Given the description of an element on the screen output the (x, y) to click on. 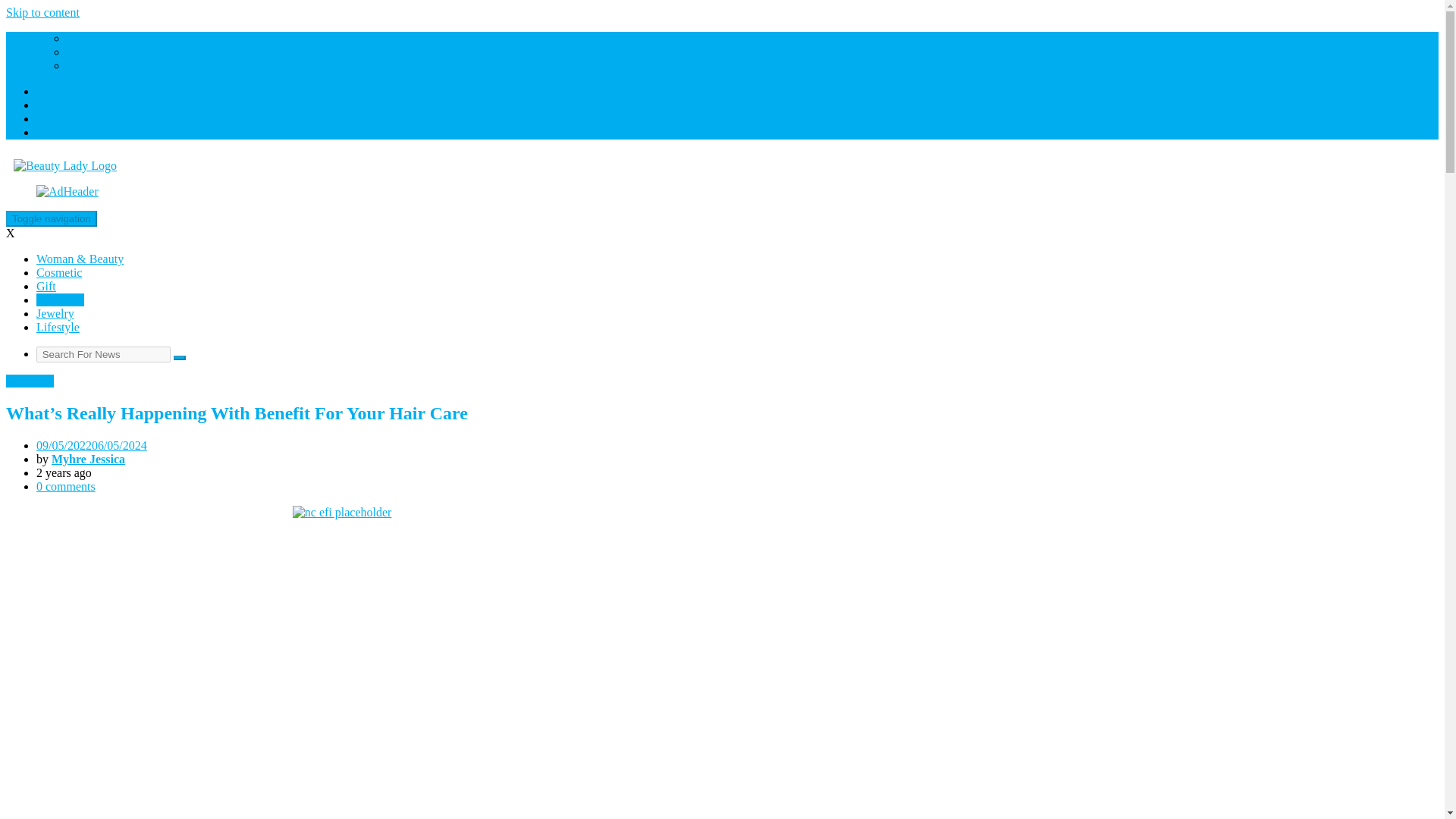
Twitter (53, 118)
Jewelry (55, 313)
Contact Us (93, 38)
Sitemap (86, 65)
pinterest (57, 132)
Instagram (60, 104)
Cosmetic (58, 272)
Toggle navigation (51, 218)
Hair Care (60, 299)
Lifestyle (58, 327)
Hair Care (29, 380)
Skip to content (42, 11)
Facebook (59, 91)
Gift (46, 286)
Myhre Jessica (87, 459)
